Given the description of an element on the screen output the (x, y) to click on. 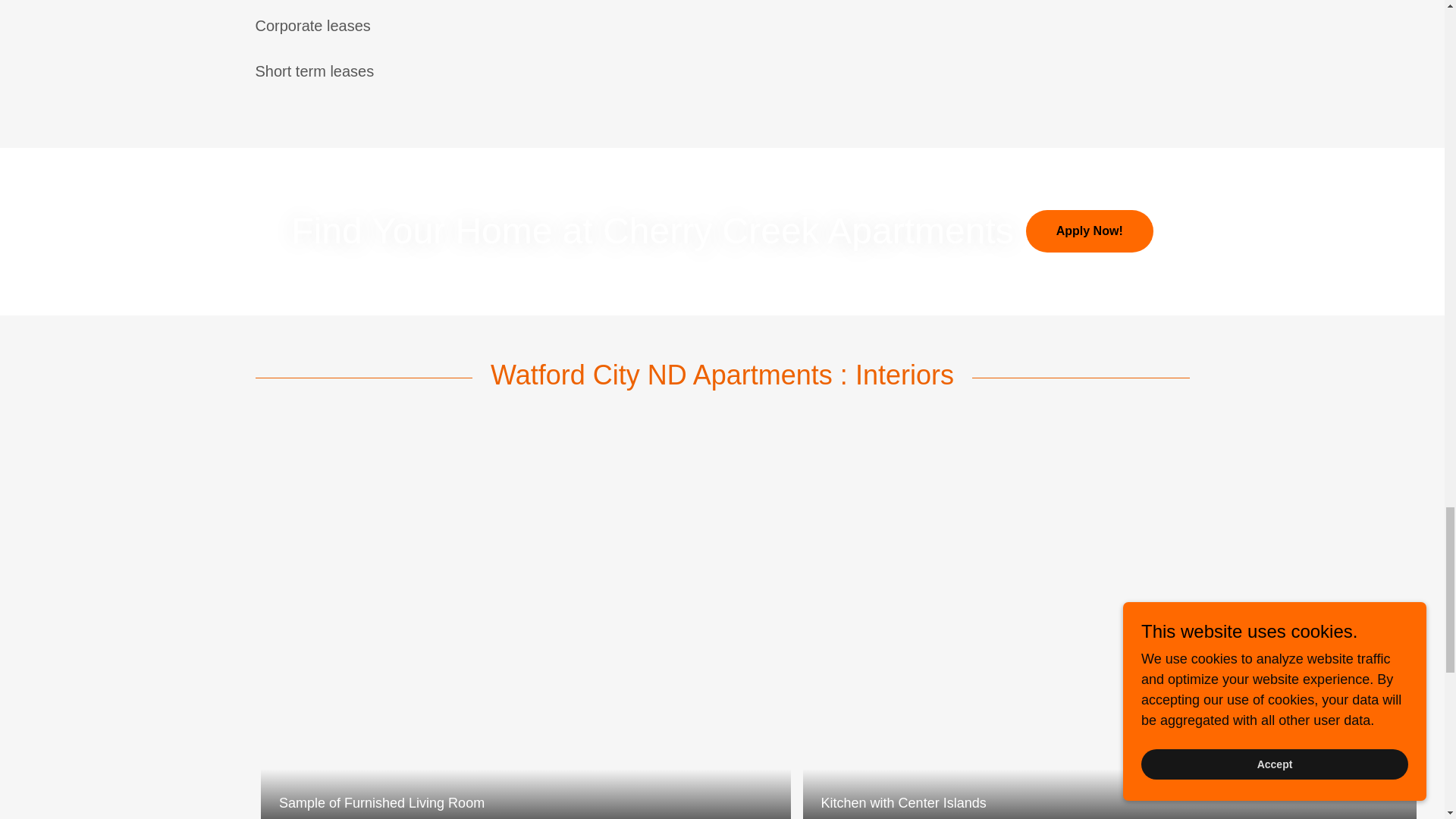
Apply Now! (1089, 230)
